Given the description of an element on the screen output the (x, y) to click on. 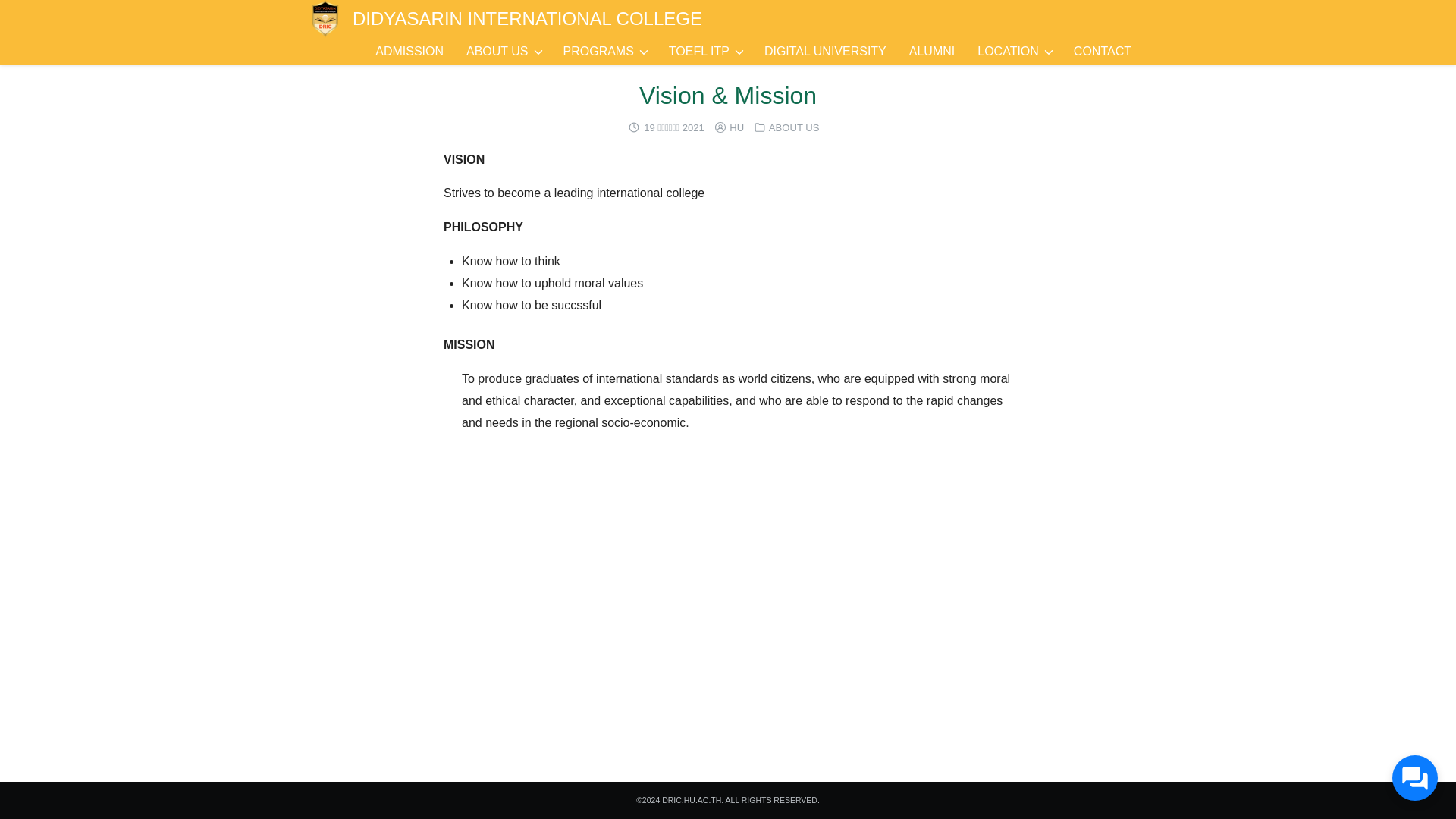
PROGRAMS (598, 51)
DIDYASARIN INTERNATIONAL COLLEGE (526, 18)
ADMISSION (409, 51)
TOEFL ITP (699, 51)
ABOUT US (497, 51)
LOCATION (1007, 51)
ALUMNI (932, 51)
DIGITAL UNIVERSITY (825, 51)
